Given the description of an element on the screen output the (x, y) to click on. 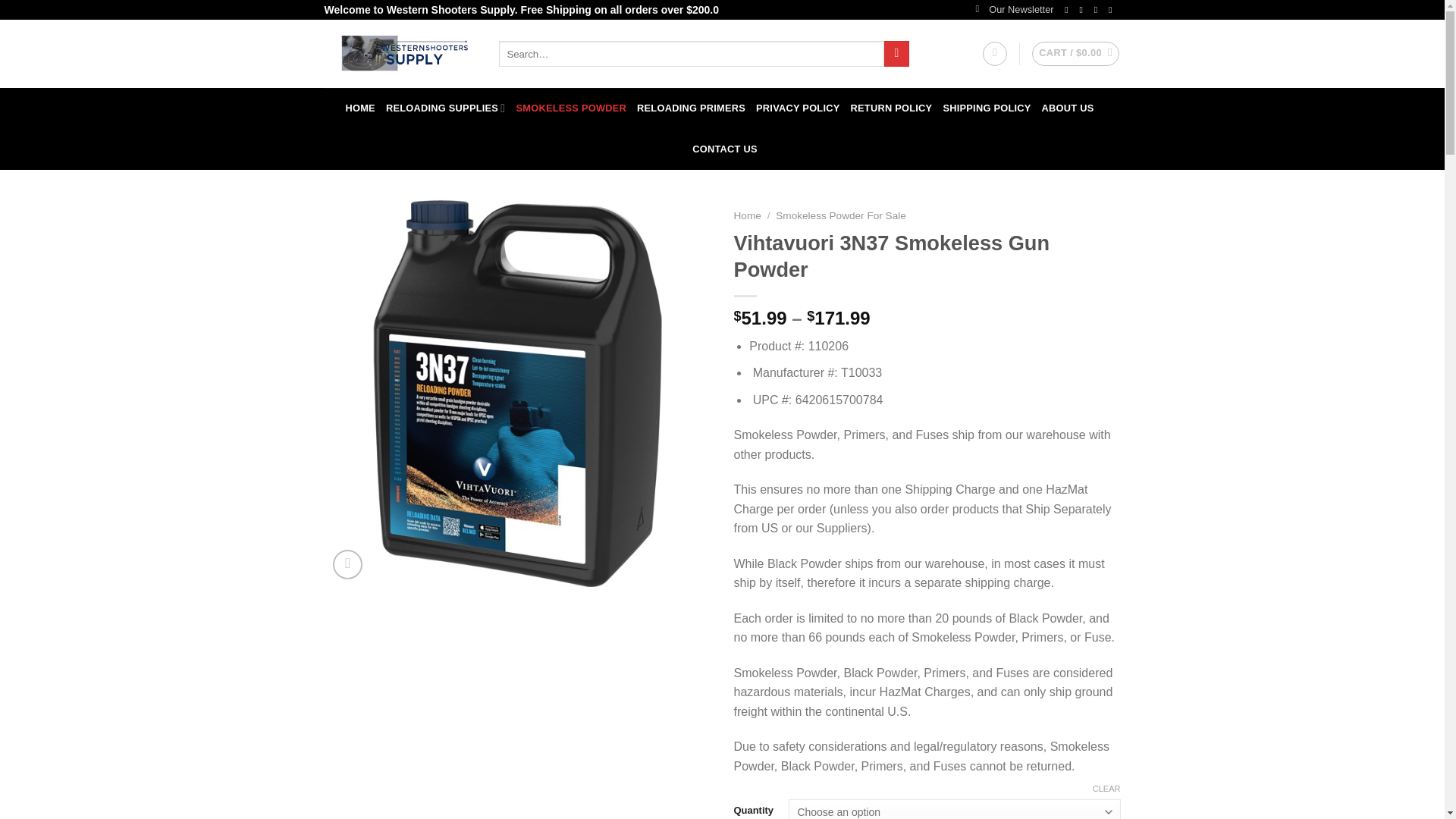
SHIPPING POLICY (986, 107)
PRIVACY POLICY (797, 107)
Search (895, 53)
Our Newsletter (1013, 9)
Zoom (347, 564)
CONTACT US (725, 148)
Smokeless Powder For Sale (840, 215)
Home (747, 215)
RELOADING PRIMERS (691, 107)
RELOADING SUPPLIES (445, 107)
RETURN POLICY (891, 107)
ABOUT US (1068, 107)
CLEAR (1107, 787)
Sign up for Newsletter (1013, 9)
Western Shooters Supply (400, 52)
